Given the description of an element on the screen output the (x, y) to click on. 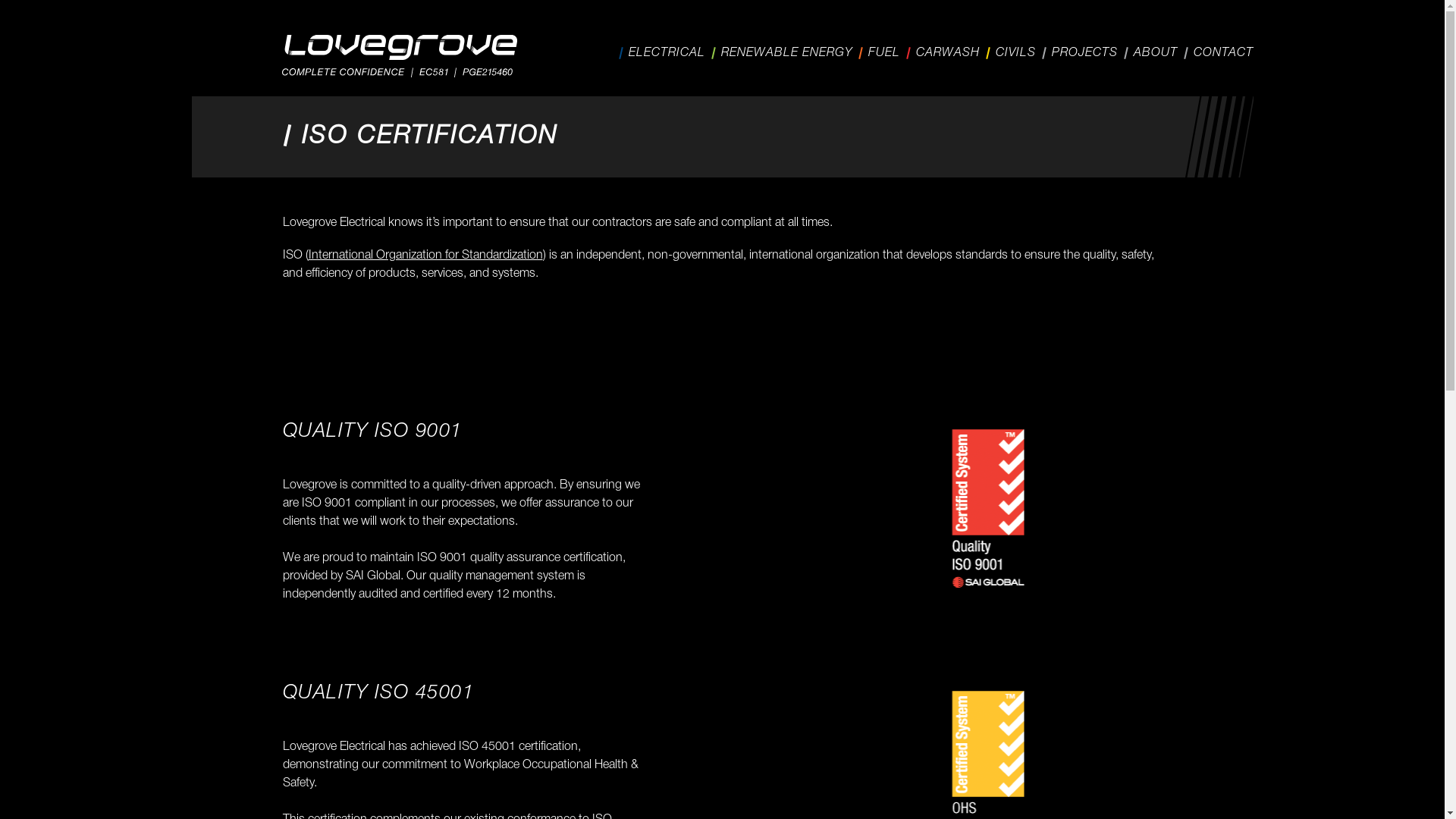
CIVILS Element type: text (1014, 53)
ABOUT Element type: text (1154, 53)
CARWASH Element type: text (947, 53)
CONTACT Element type: text (1223, 53)
RENEWABLE ENERGY Element type: text (785, 53)
International Organization for Standardization Element type: text (424, 255)
Lovegrove Electrical Element type: hover (399, 55)
PROJECTS Element type: text (1084, 53)
FUEL Element type: text (883, 53)
ELECTRICAL Element type: text (665, 53)
